Given the description of an element on the screen output the (x, y) to click on. 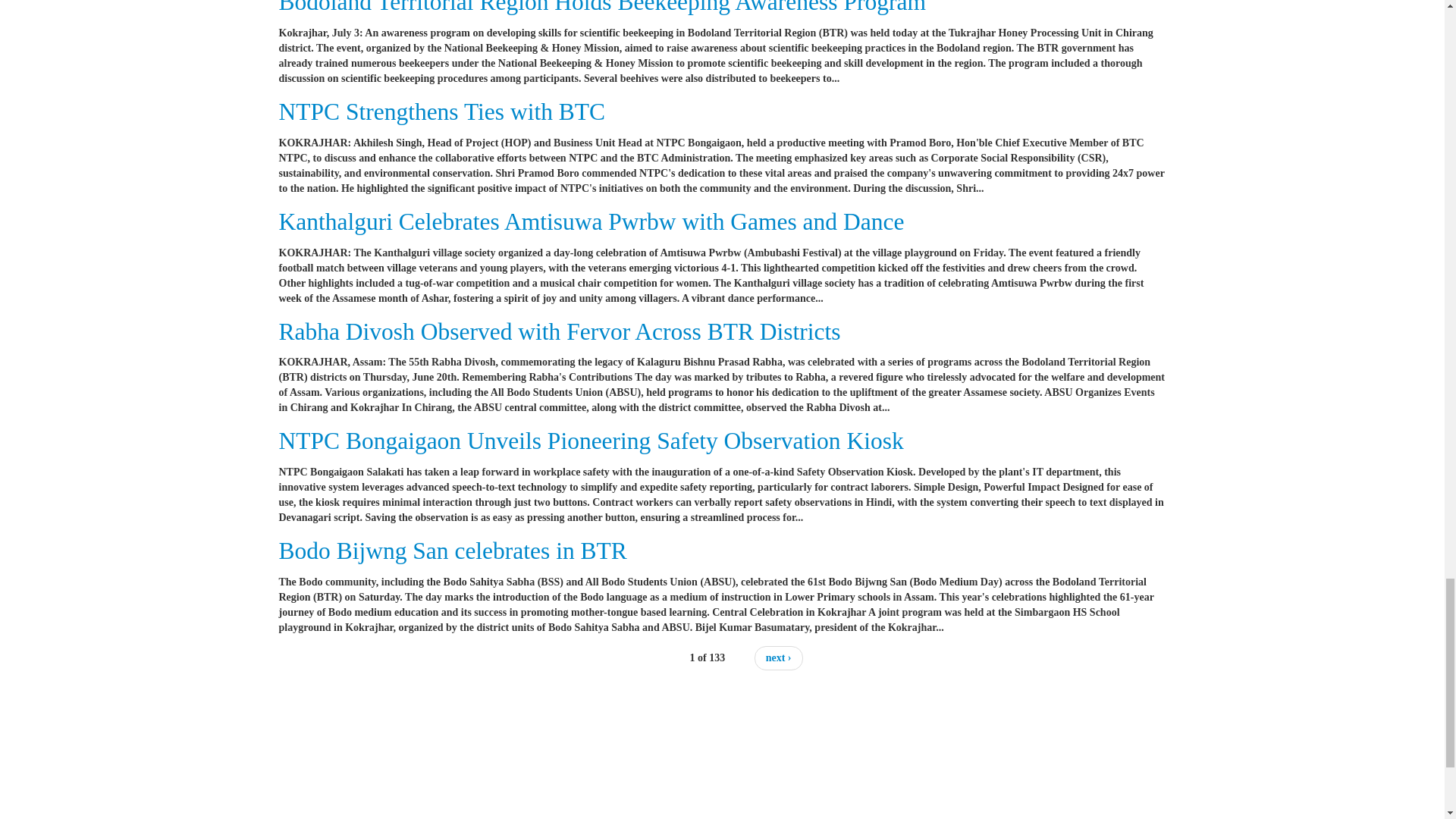
Bodo Bijwng San celebrates in BTR (453, 550)
Kanthalguri Celebrates Amtisuwa Pwrbw with Games and Dance (591, 221)
Rabha Divosh Observed with Fervor Across BTR Districts (560, 331)
NTPC Strengthens Ties with BTC (442, 111)
NTPC Bongaigaon Unveils Pioneering Safety Observation Kiosk (591, 440)
